Given the description of an element on the screen output the (x, y) to click on. 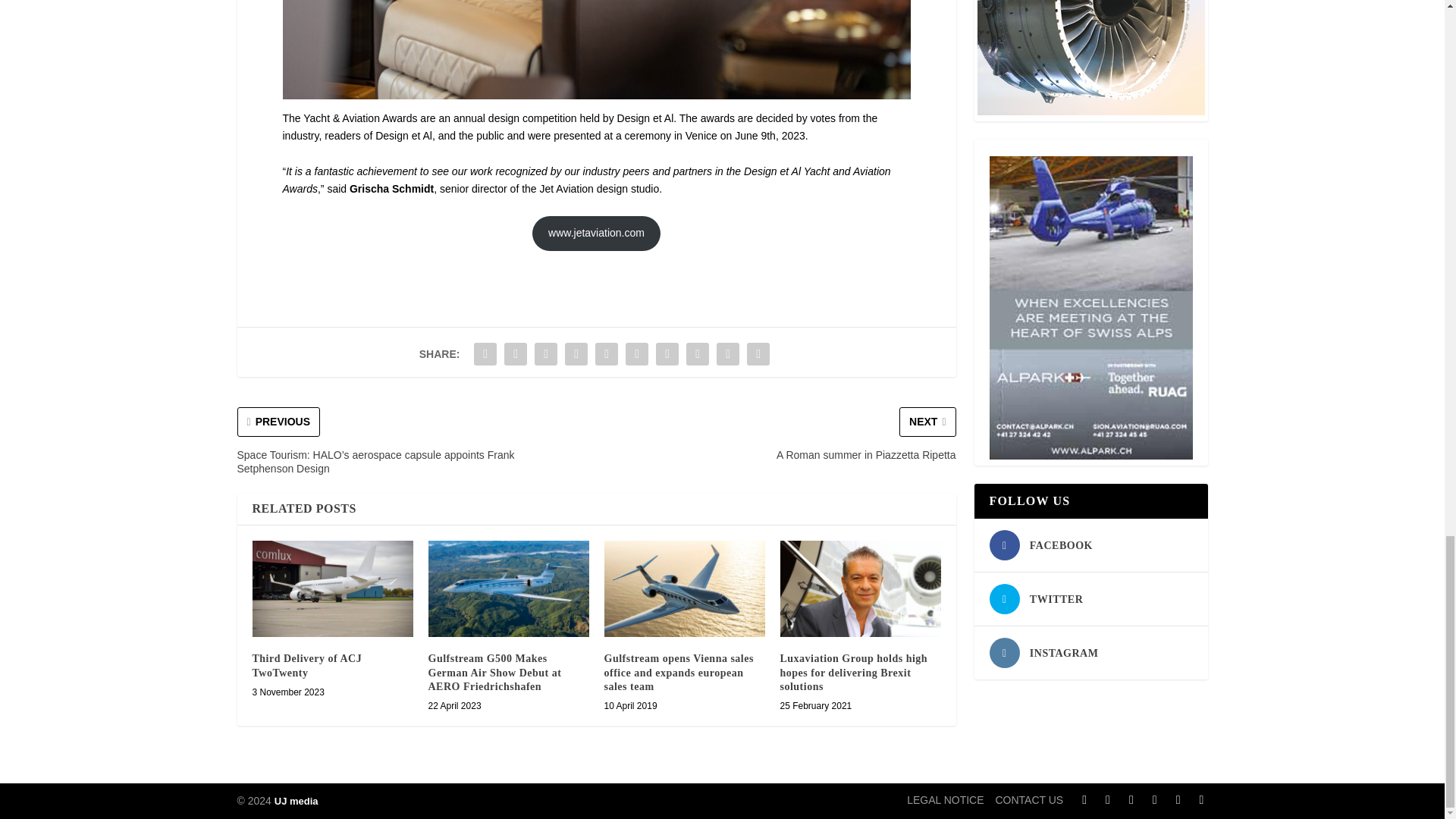
Third Delivery of ACJ TwoTwenty (331, 588)
Share "Jet Aviation wins design award in Venice" via Twitter (515, 354)
Share "Jet Aviation wins design award in Venice" via Email (727, 354)
Share "Jet Aviation wins design award in Venice" via Print (757, 354)
Share "Jet Aviation wins design award in Venice" via Tumblr (575, 354)
Share "Jet Aviation wins design award in Venice" via Buffer (667, 354)
